Given the description of an element on the screen output the (x, y) to click on. 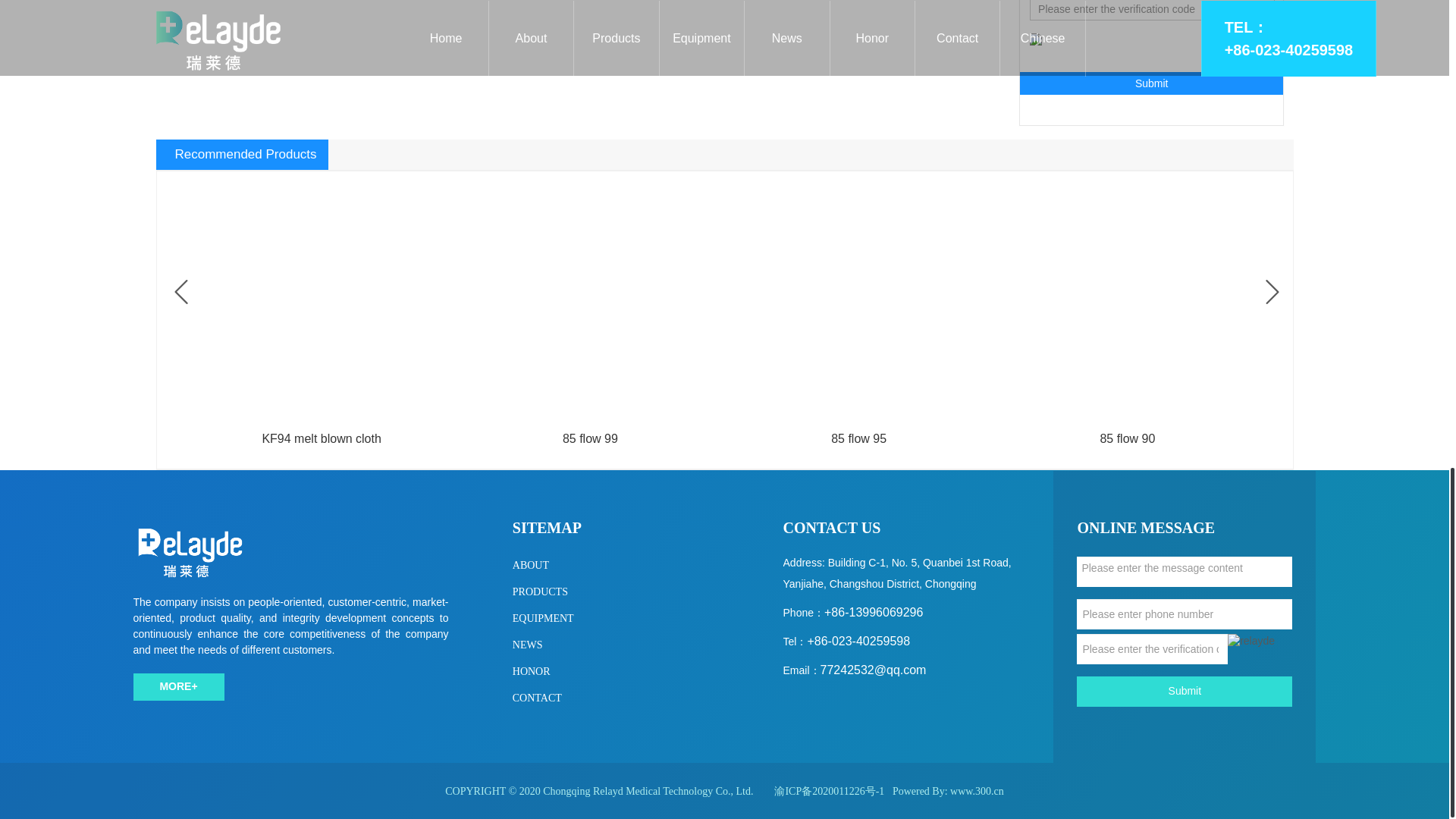
relayde (858, 298)
85 flow 95 (858, 438)
relayde (1035, 39)
KF94 melt blown cloth (320, 438)
Submit (1152, 83)
relayde (1126, 298)
relayde (320, 298)
85 flow 99 (590, 438)
85 flow 90 (1126, 438)
relayde (590, 298)
